Given the description of an element on the screen output the (x, y) to click on. 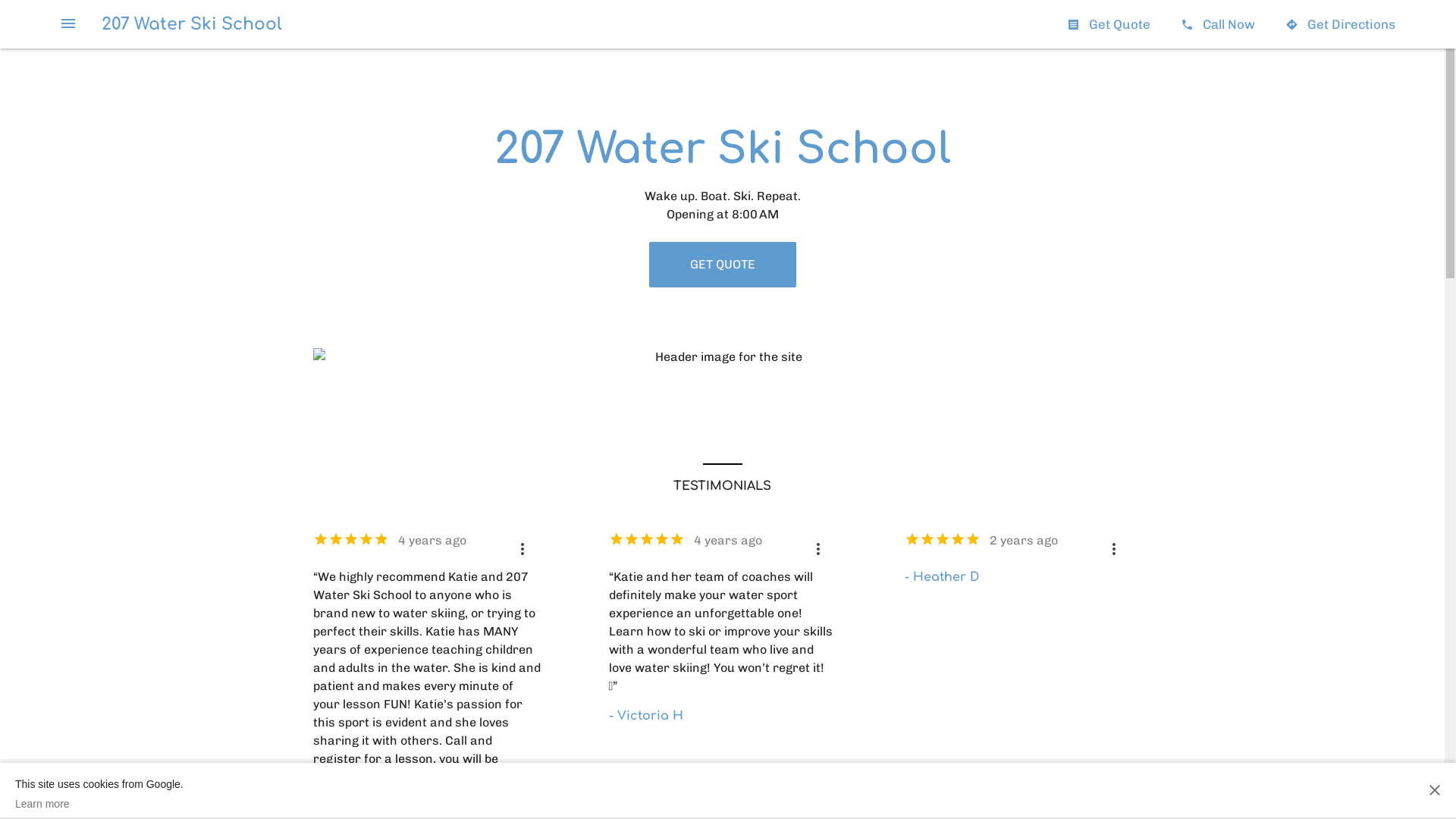
207 Water Ski School Element type: text (191, 24)
GET QUOTE Element type: text (722, 264)
Learn more Element type: text (99, 803)
